Given the description of an element on the screen output the (x, y) to click on. 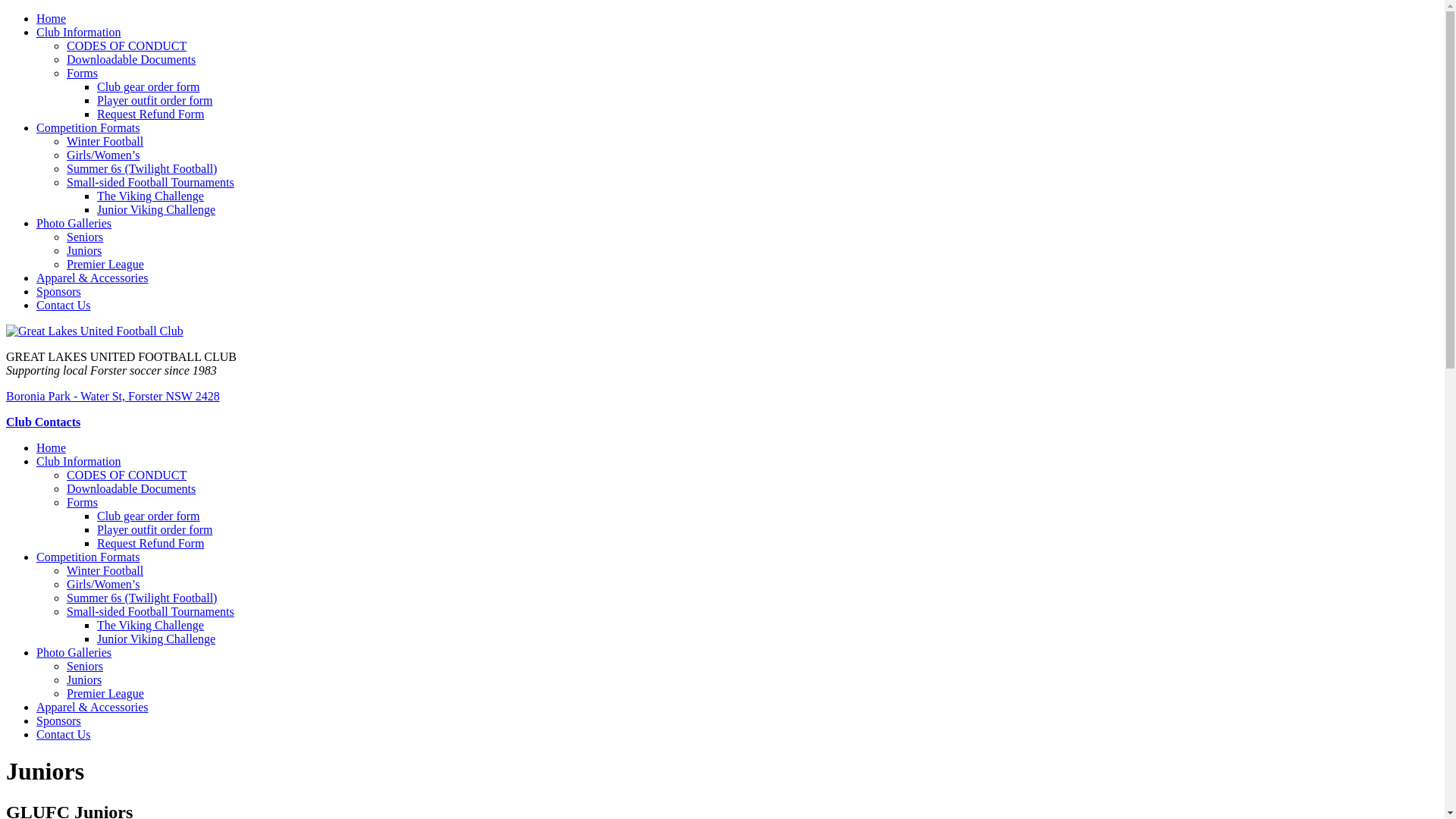
Home Element type: text (50, 447)
Apparel & Accessories Element type: text (92, 277)
Small-sided Football Tournaments Element type: text (150, 611)
Competition Formats Element type: text (87, 127)
Contact Us Element type: text (63, 734)
Apparel & Accessories Element type: text (92, 706)
Summer 6s (Twilight Football) Element type: text (141, 597)
Forms Element type: text (81, 501)
Forms Element type: text (81, 72)
CODES OF CONDUCT Element type: text (126, 474)
Seniors Element type: text (84, 236)
Seniors Element type: text (84, 665)
CODES OF CONDUCT Element type: text (126, 45)
Home Element type: text (50, 18)
Premier League Element type: text (105, 693)
Request Refund Form Element type: text (150, 542)
Premier League Element type: text (105, 263)
Summer 6s (Twilight Football) Element type: text (141, 168)
Winter Football Element type: text (104, 140)
Junior Viking Challenge Element type: text (156, 209)
Club Information Element type: text (78, 31)
The Viking Challenge Element type: text (150, 195)
Club Information Element type: text (78, 461)
The Viking Challenge Element type: text (150, 624)
Club gear order form Element type: text (148, 86)
Club Contacts Element type: text (43, 421)
Request Refund Form Element type: text (150, 113)
Small-sided Football Tournaments Element type: text (150, 181)
Photo Galleries Element type: text (73, 652)
Photo Galleries Element type: text (73, 222)
Club gear order form Element type: text (148, 515)
Sponsors Element type: text (58, 291)
Downloadable Documents Element type: text (130, 488)
Competition Formats Element type: text (87, 556)
Winter Football Element type: text (104, 570)
Juniors Element type: text (83, 679)
Boronia Park - Water St, Forster NSW 2428 Element type: text (112, 395)
Sponsors Element type: text (58, 720)
Juniors Element type: text (83, 250)
Junior Viking Challenge Element type: text (156, 638)
Player outfit order form Element type: text (154, 100)
Contact Us Element type: text (63, 304)
Player outfit order form Element type: text (154, 529)
Downloadable Documents Element type: text (130, 59)
